Given the description of an element on the screen output the (x, y) to click on. 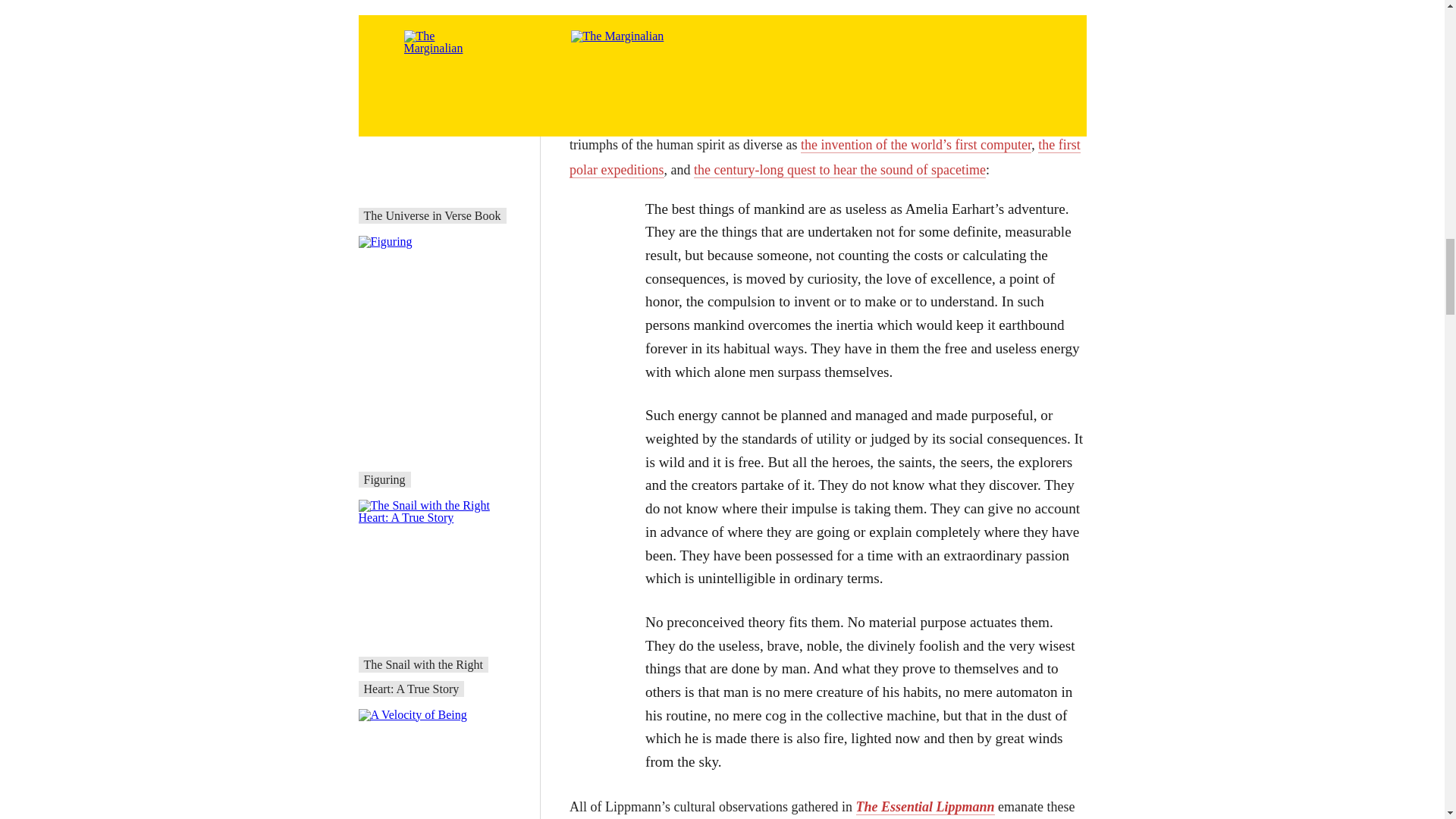
The Snail with the Right Heart: A True Story (423, 676)
Figuring (385, 479)
The Universe in Verse Book (432, 215)
